Given the description of an element on the screen output the (x, y) to click on. 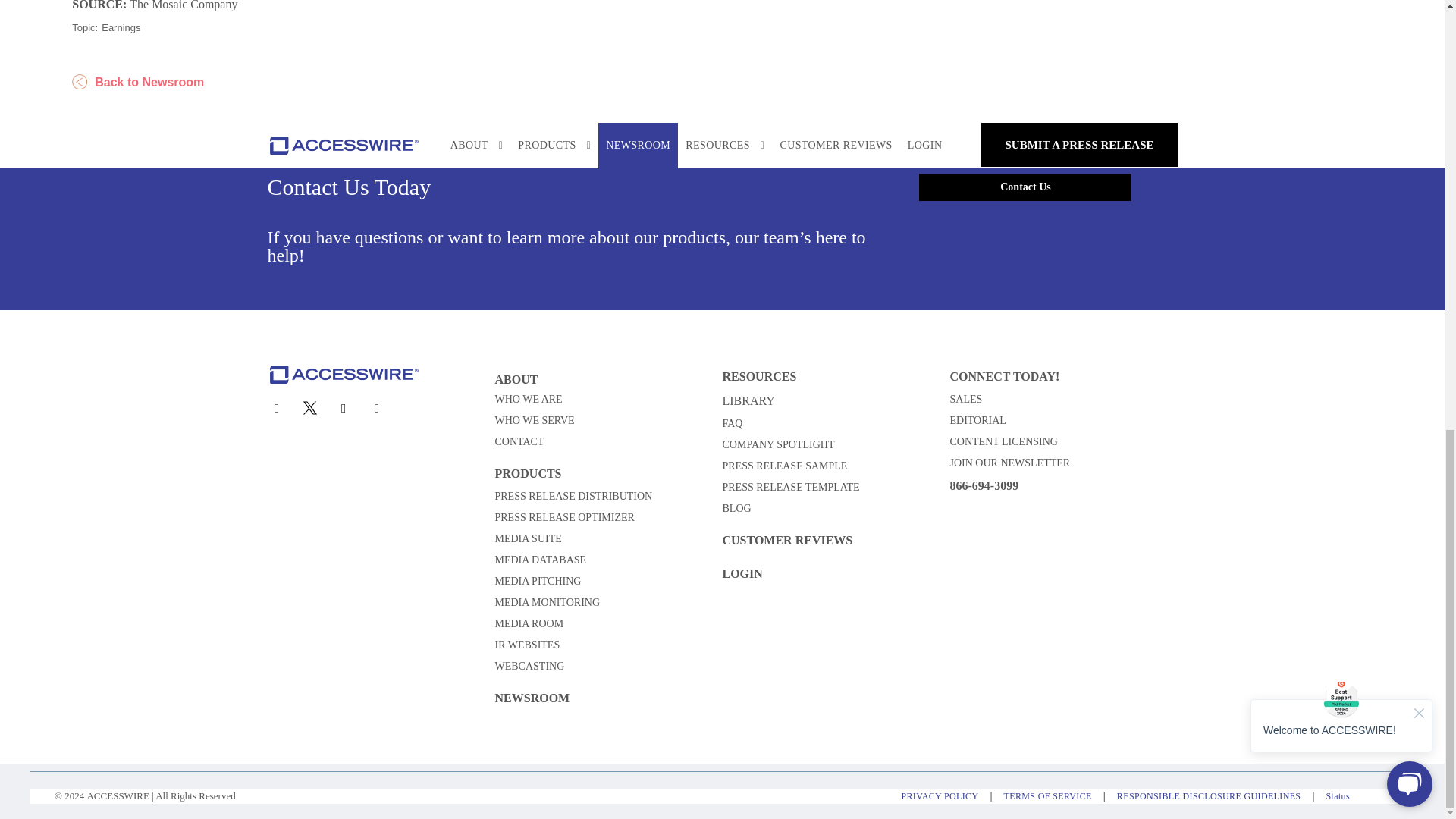
Contact Us (1024, 186)
Back to Newsroom (137, 81)
